Given the description of an element on the screen output the (x, y) to click on. 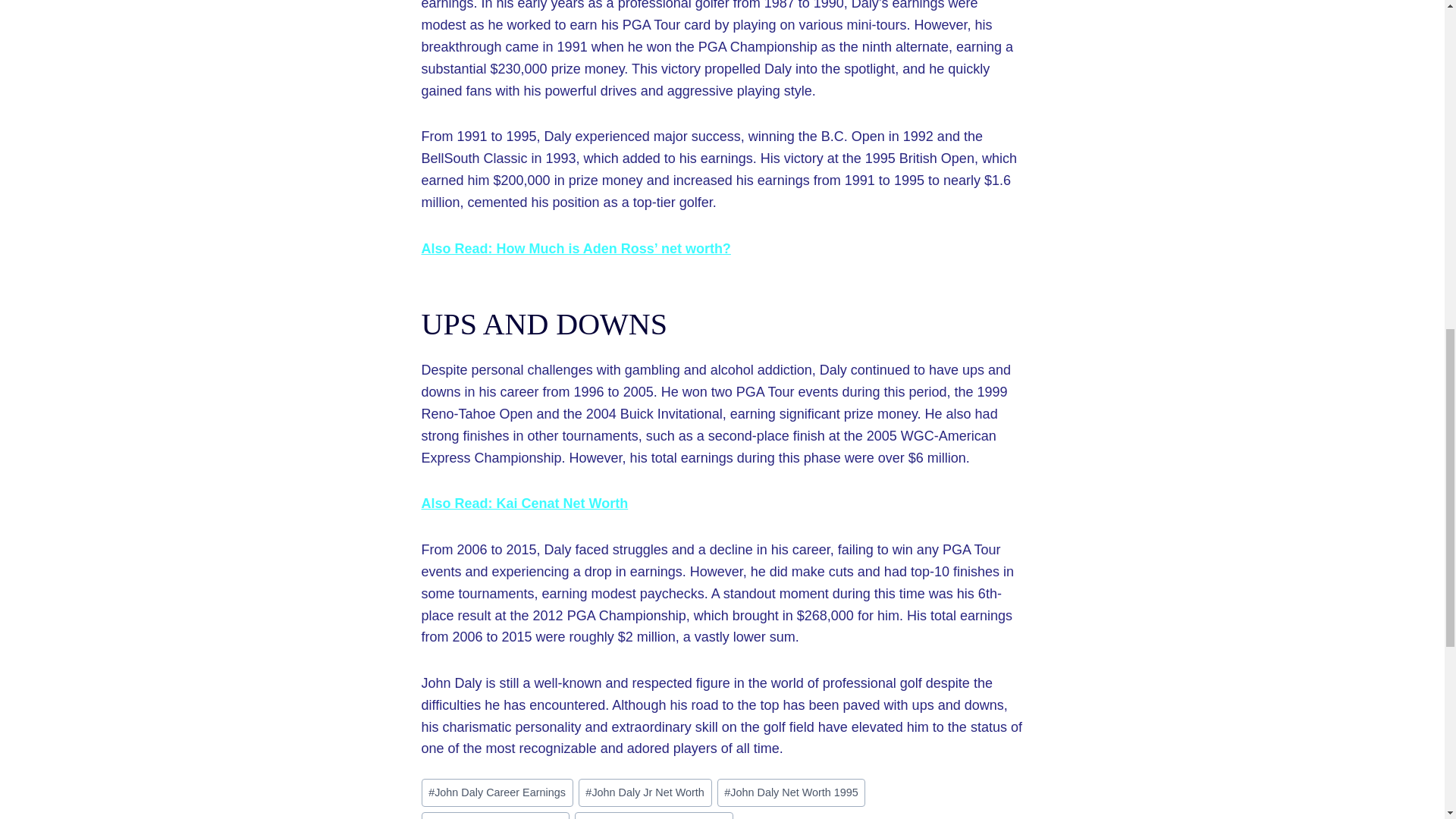
John Daly Net Worth 1995 (791, 792)
John Daly Net Worth 2023 (496, 815)
John Daly Career Earnings (497, 792)
Also Read: Kai Cenat Net Worth (525, 503)
John Daly Jr Net Worth (644, 792)
John Daly Net Worth Forbes (654, 815)
